Given the description of an element on the screen output the (x, y) to click on. 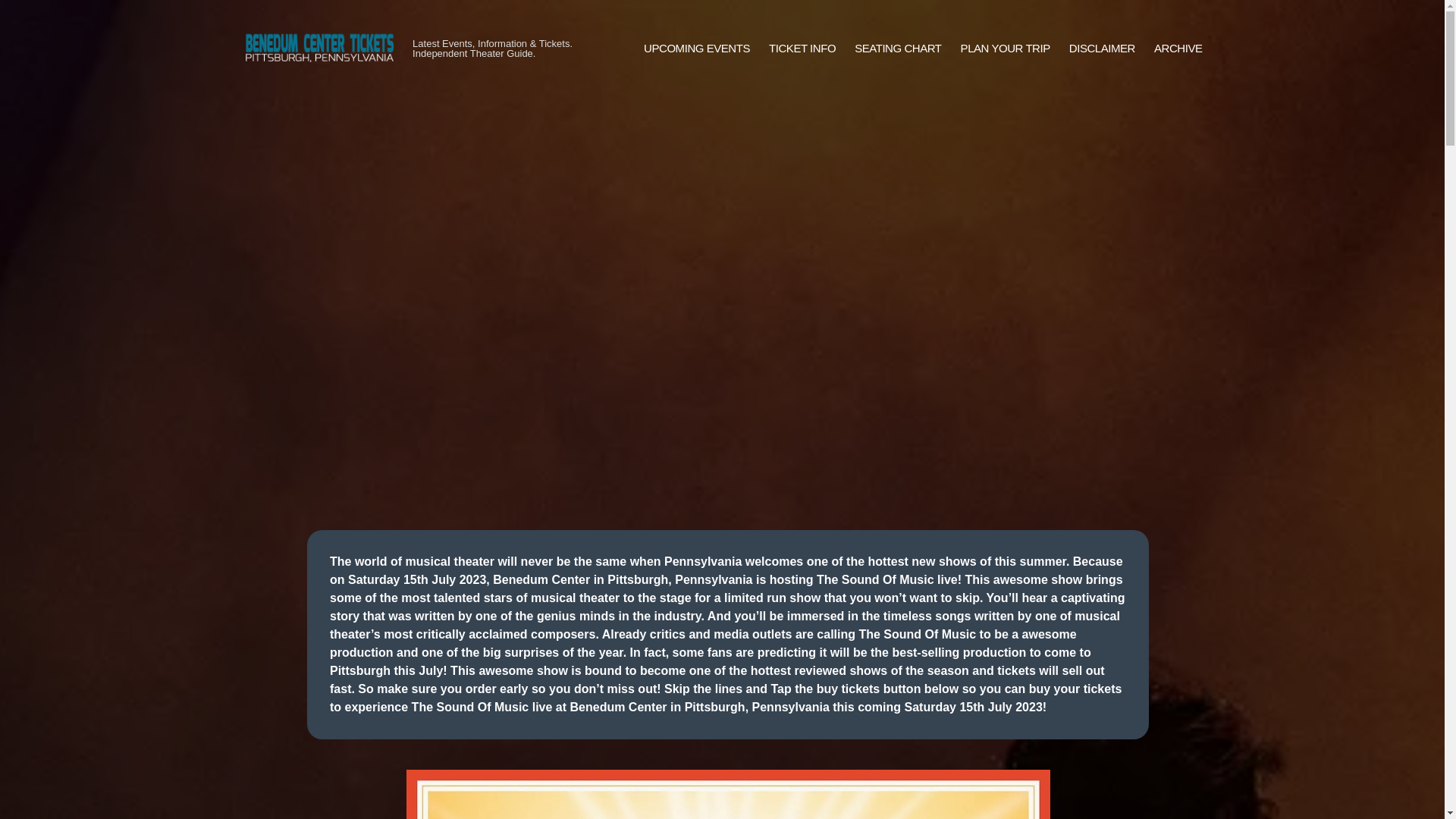
UPCOMING EVENTS (696, 48)
The Sound Of Music at Benedum Center (727, 794)
PLAN YOUR TRIP (1004, 48)
DISCLAIMER (1101, 48)
ARCHIVE (1178, 48)
TICKET INFO (801, 48)
SEATING CHART (897, 48)
